Given the description of an element on the screen output the (x, y) to click on. 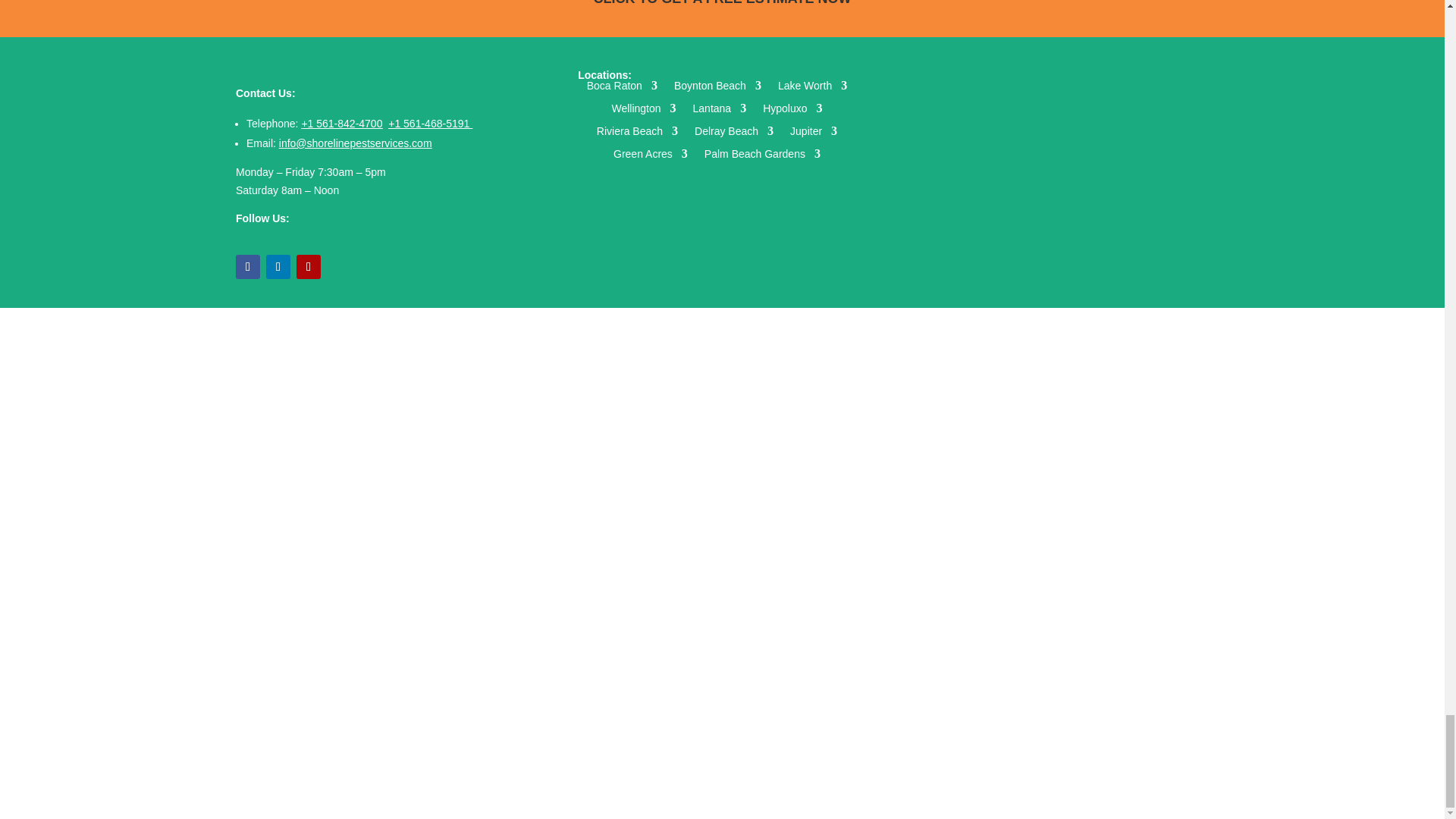
Follow on LinkedIn (277, 266)
Follow on Facebook (247, 266)
Follow on Yelp (308, 266)
